Given the description of an element on the screen output the (x, y) to click on. 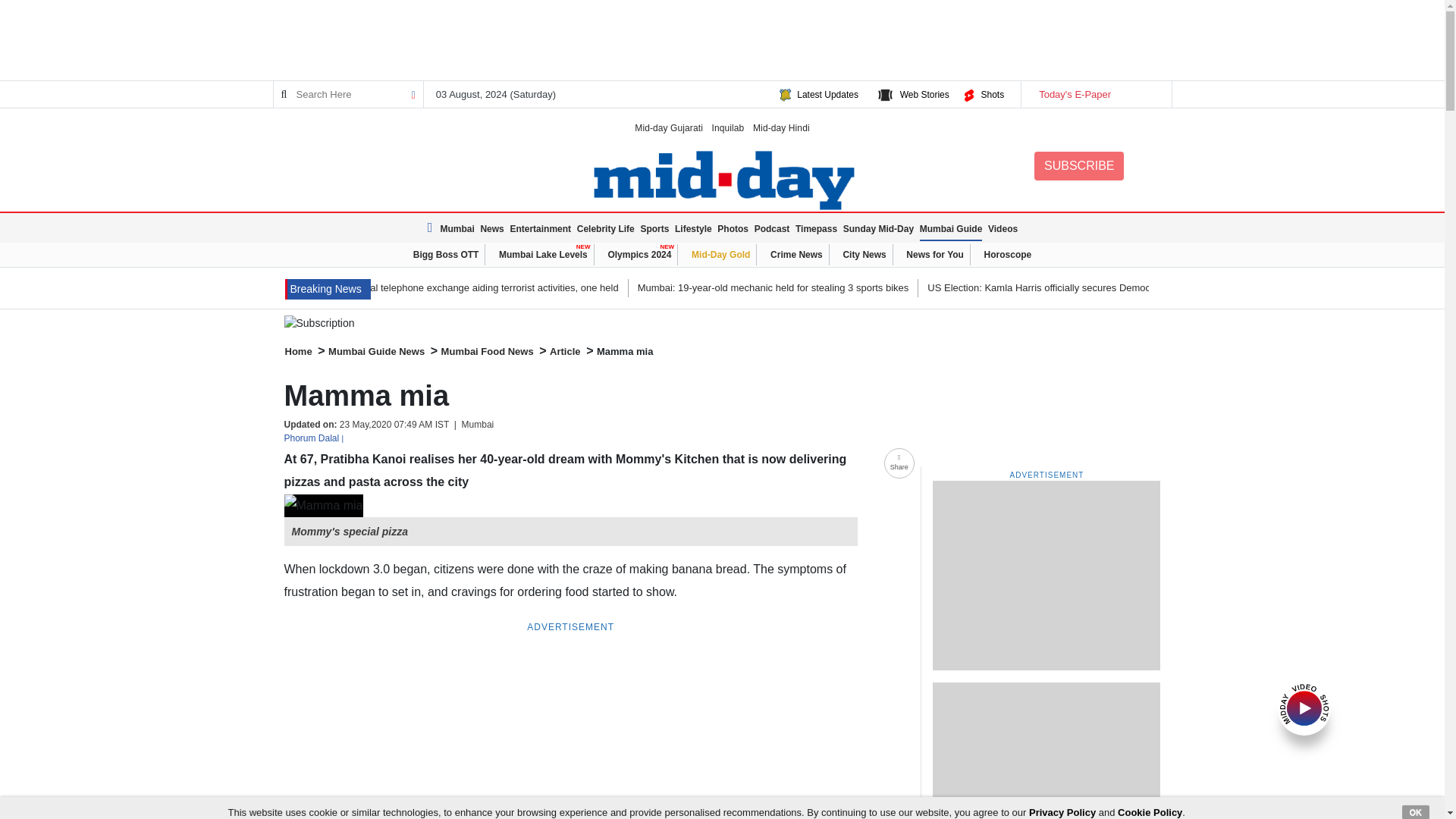
Today's E-Paper (1095, 94)
Web Stories (924, 94)
Shots (991, 94)
Inquilab (728, 127)
Latest Updates (827, 94)
SUBSCRIBE (1078, 165)
Mid-day Gujarati (668, 127)
Mamma mia (322, 505)
Subscription (721, 323)
Latest News (432, 227)
